Given the description of an element on the screen output the (x, y) to click on. 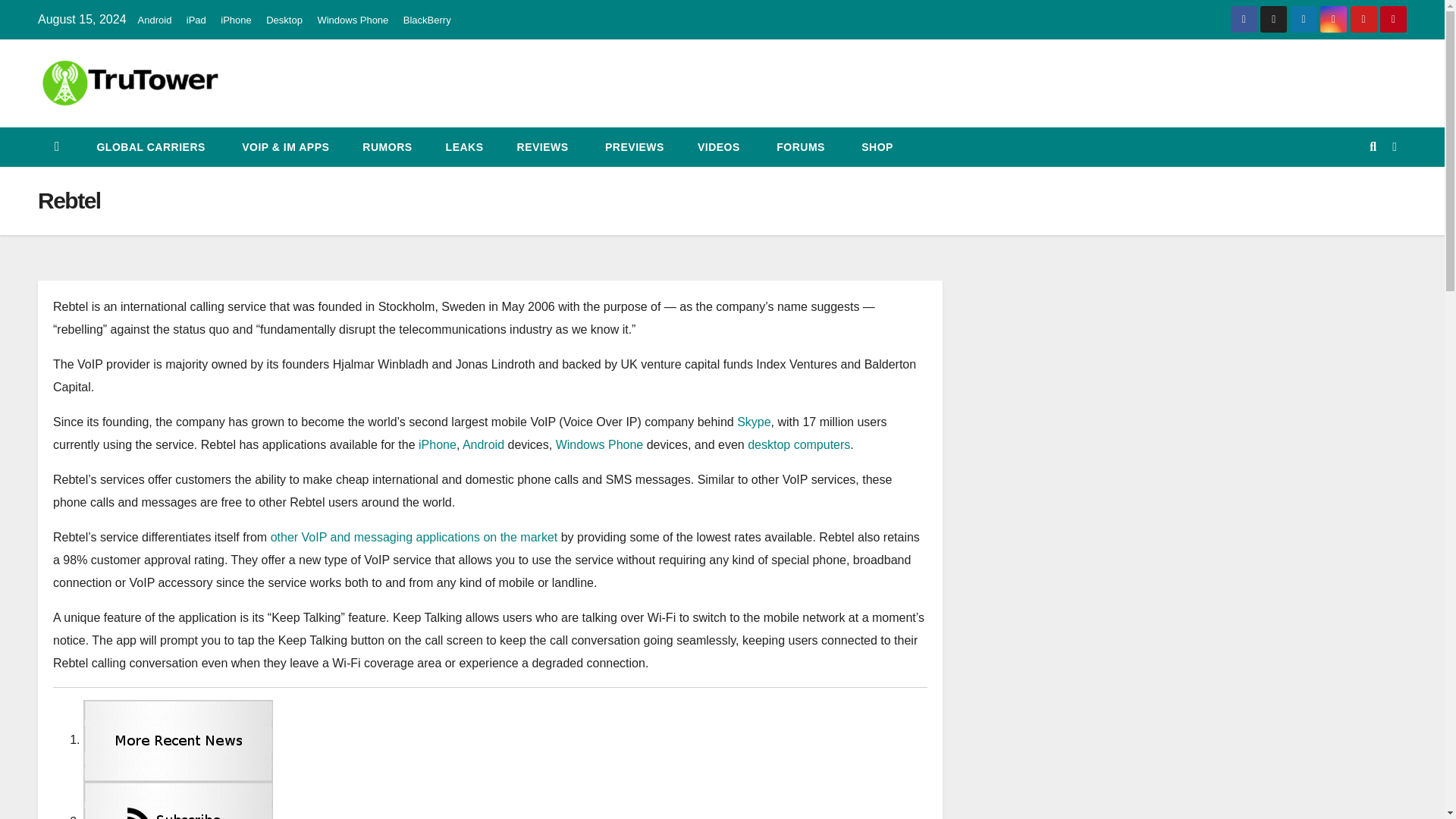
Application, Tablet, Cellular Previews (633, 147)
iPhone (235, 19)
desktop computers (799, 444)
Desktop (284, 19)
 FORUMS (799, 147)
other VoIP and messaging applications on the market (413, 536)
Unlocked GSM Phones and Accessories (875, 147)
Rumors (387, 147)
Leaks (464, 147)
GSM Roaming, International Phone Service, Travel SIM Cards (149, 147)
